Given the description of an element on the screen output the (x, y) to click on. 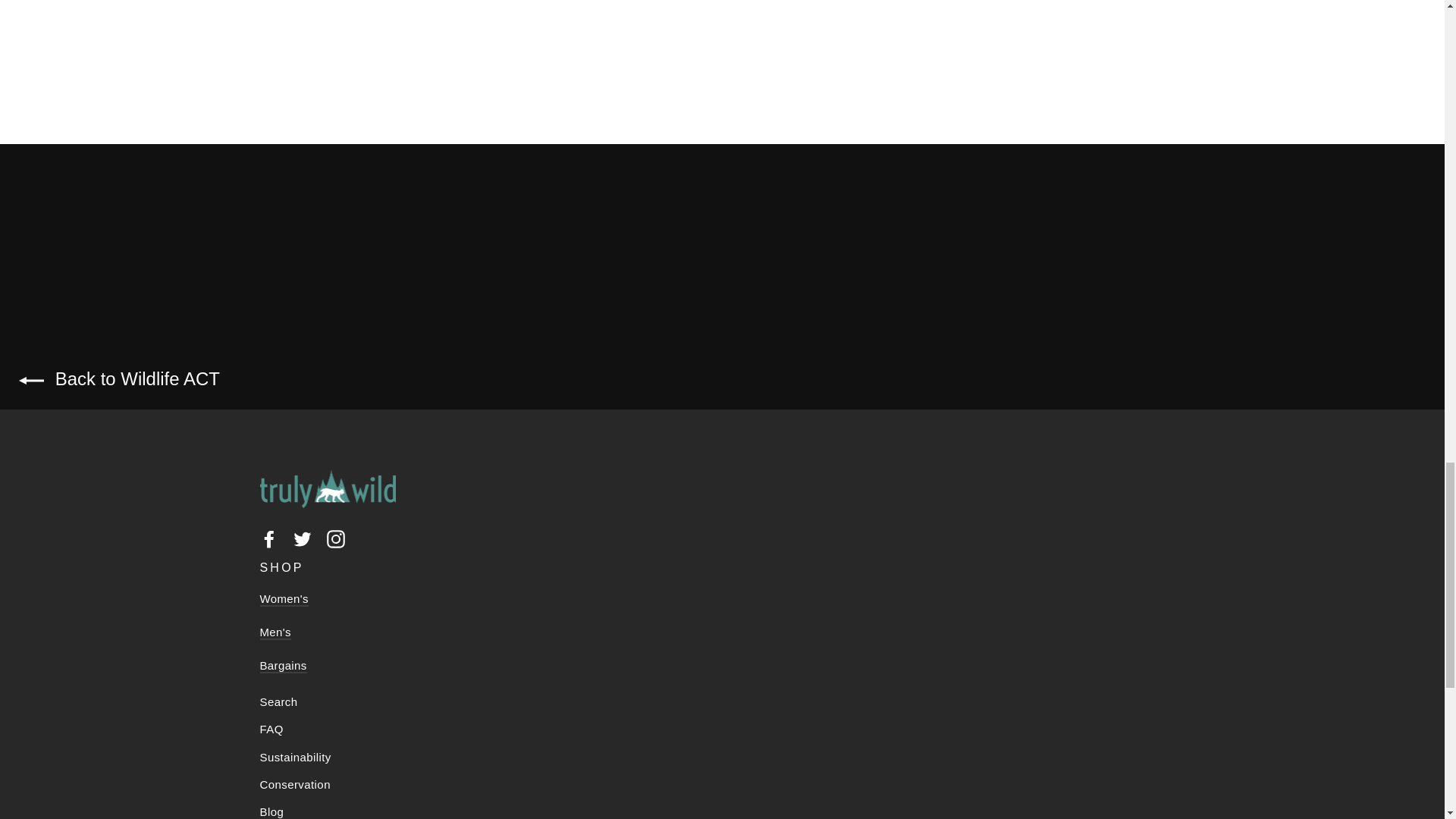
Women's Clothing (283, 599)
Bargains (282, 666)
Truly Wild on Twitter (302, 538)
Men's Clothing (274, 632)
